Given the description of an element on the screen output the (x, y) to click on. 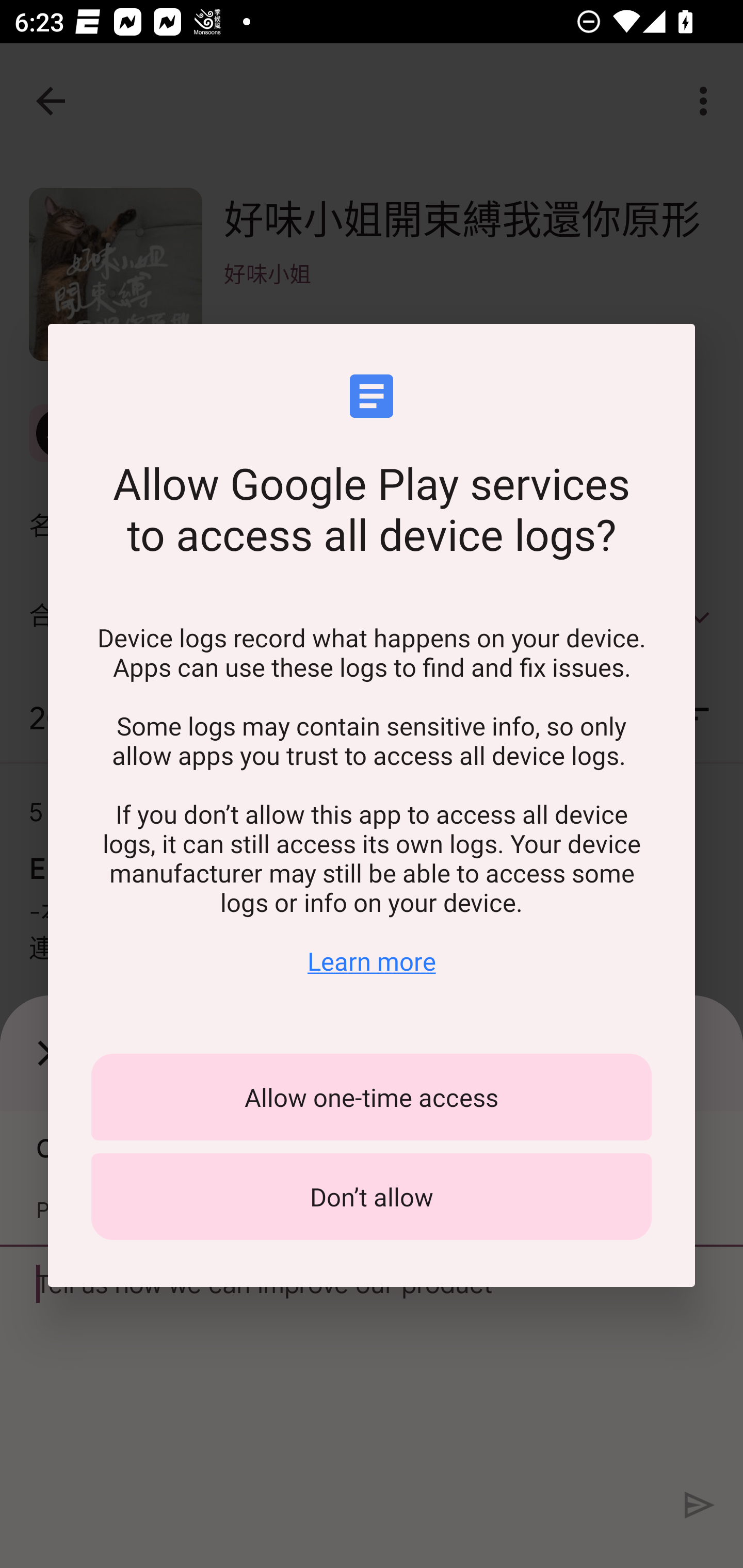
Allow one-time access (371, 1096)
Don’t allow (371, 1197)
